Given the description of an element on the screen output the (x, y) to click on. 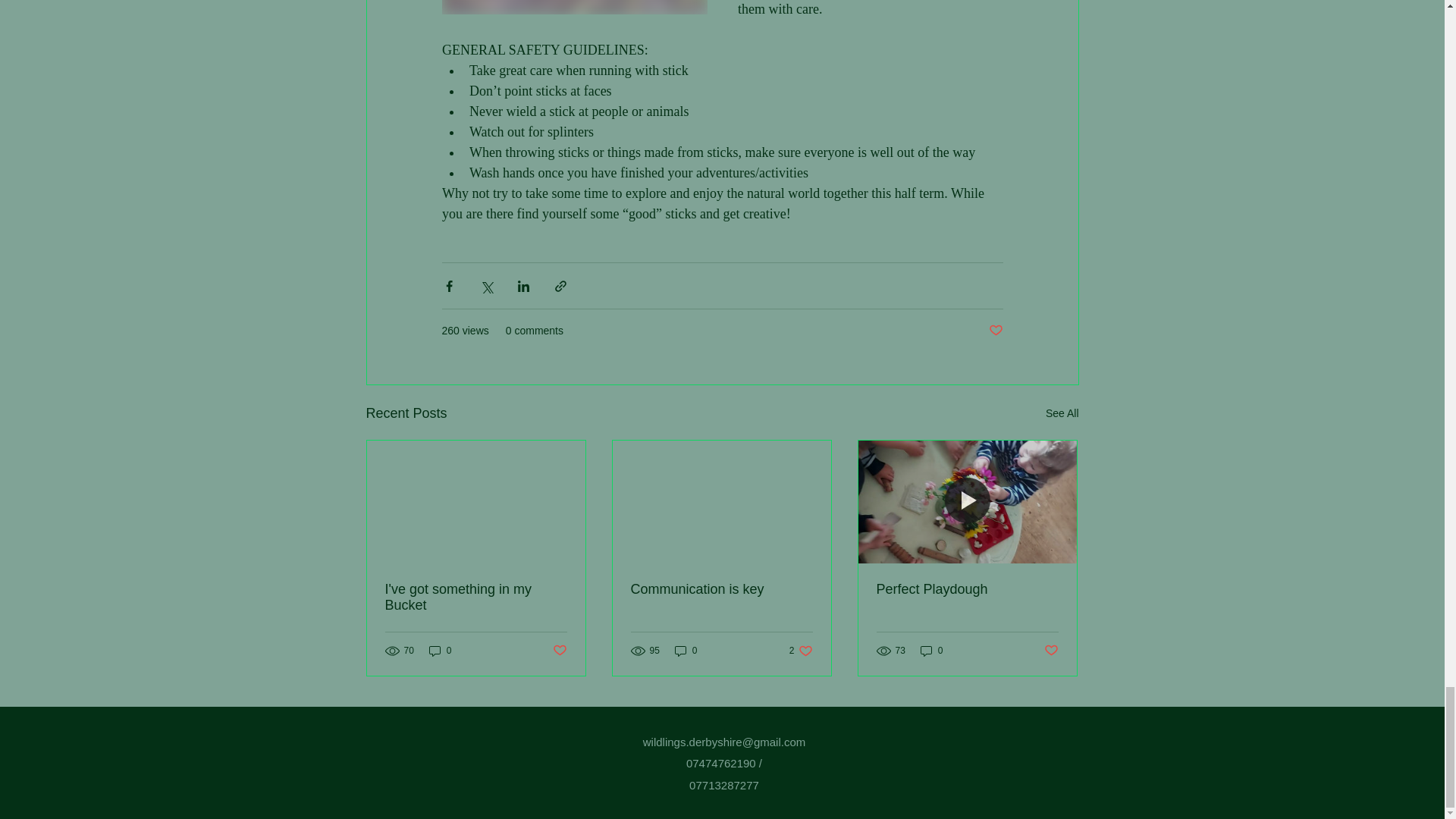
Post not marked as liked (558, 650)
I've got something in my Bucket (476, 597)
0 (440, 650)
Post not marked as liked (995, 330)
Communication is key (721, 589)
See All (1061, 413)
